Given the description of an element on the screen output the (x, y) to click on. 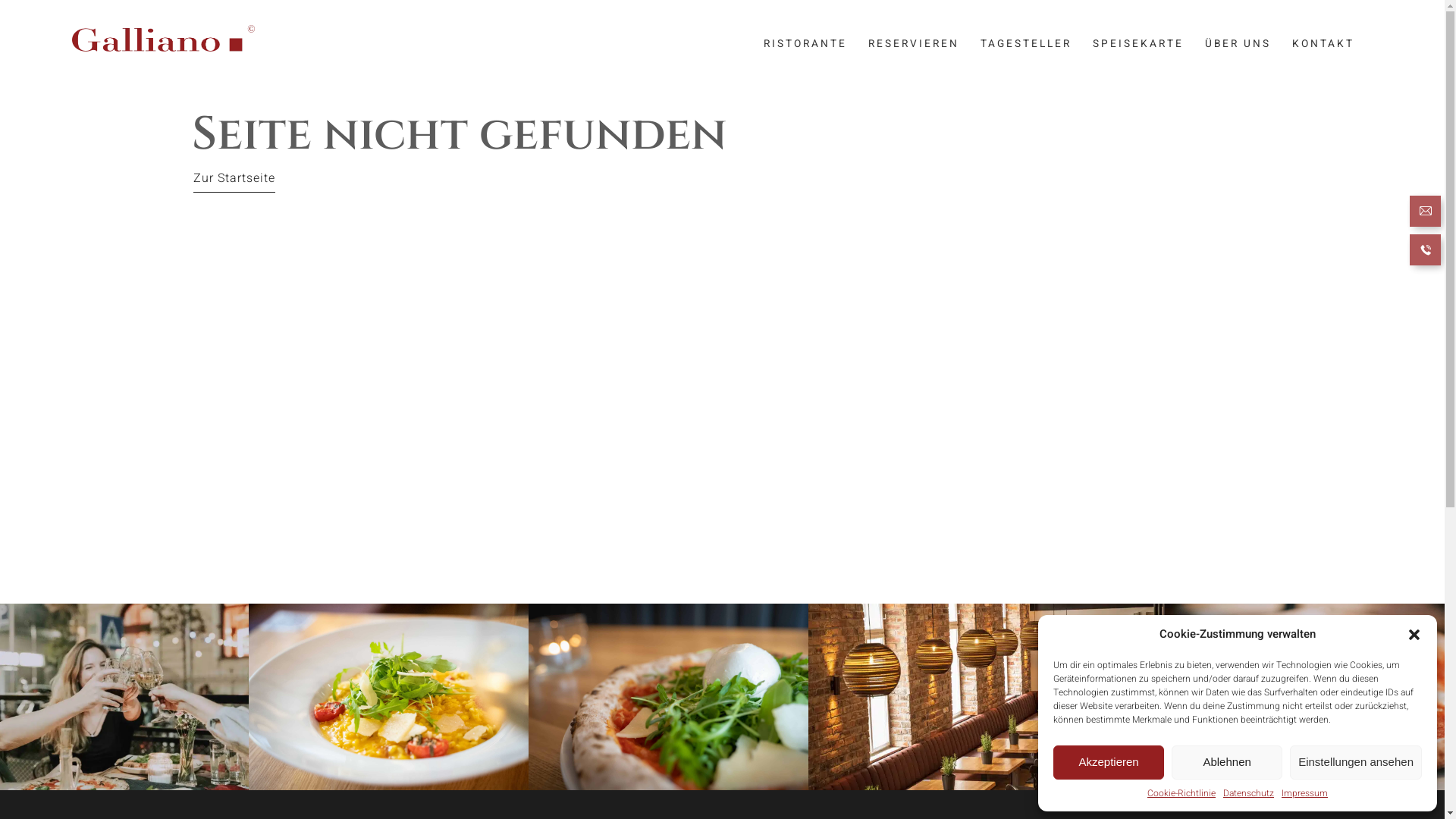
KONTAKT Element type: text (1323, 43)
Akzeptieren Element type: text (1108, 762)
Cookie-Richtlinie Element type: text (1181, 793)
SPEISEKARTE Element type: text (1137, 43)
Einstellungen ansehen Element type: text (1355, 762)
RISTORANTE Element type: text (805, 43)
Zur Startseite Element type: text (233, 178)
Ablehnen Element type: text (1226, 762)
Impressum Element type: text (1304, 793)
Datenschutz Element type: text (1248, 793)
TAGESTELLER Element type: text (1025, 43)
RESERVIEREN Element type: text (913, 43)
